Given the description of an element on the screen output the (x, y) to click on. 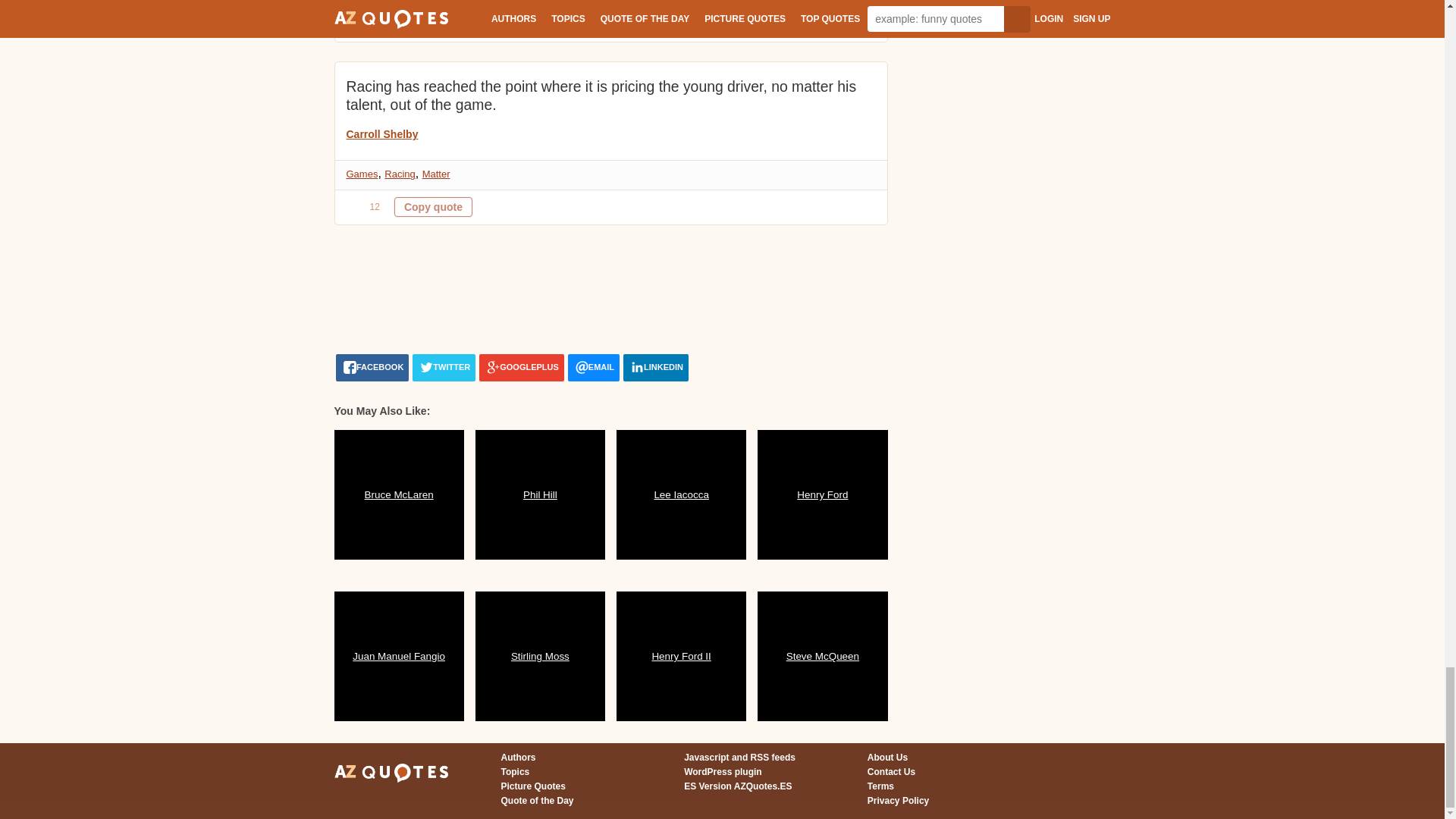
Quote is copied (432, 207)
Quote is copied (432, 24)
